Given the description of an element on the screen output the (x, y) to click on. 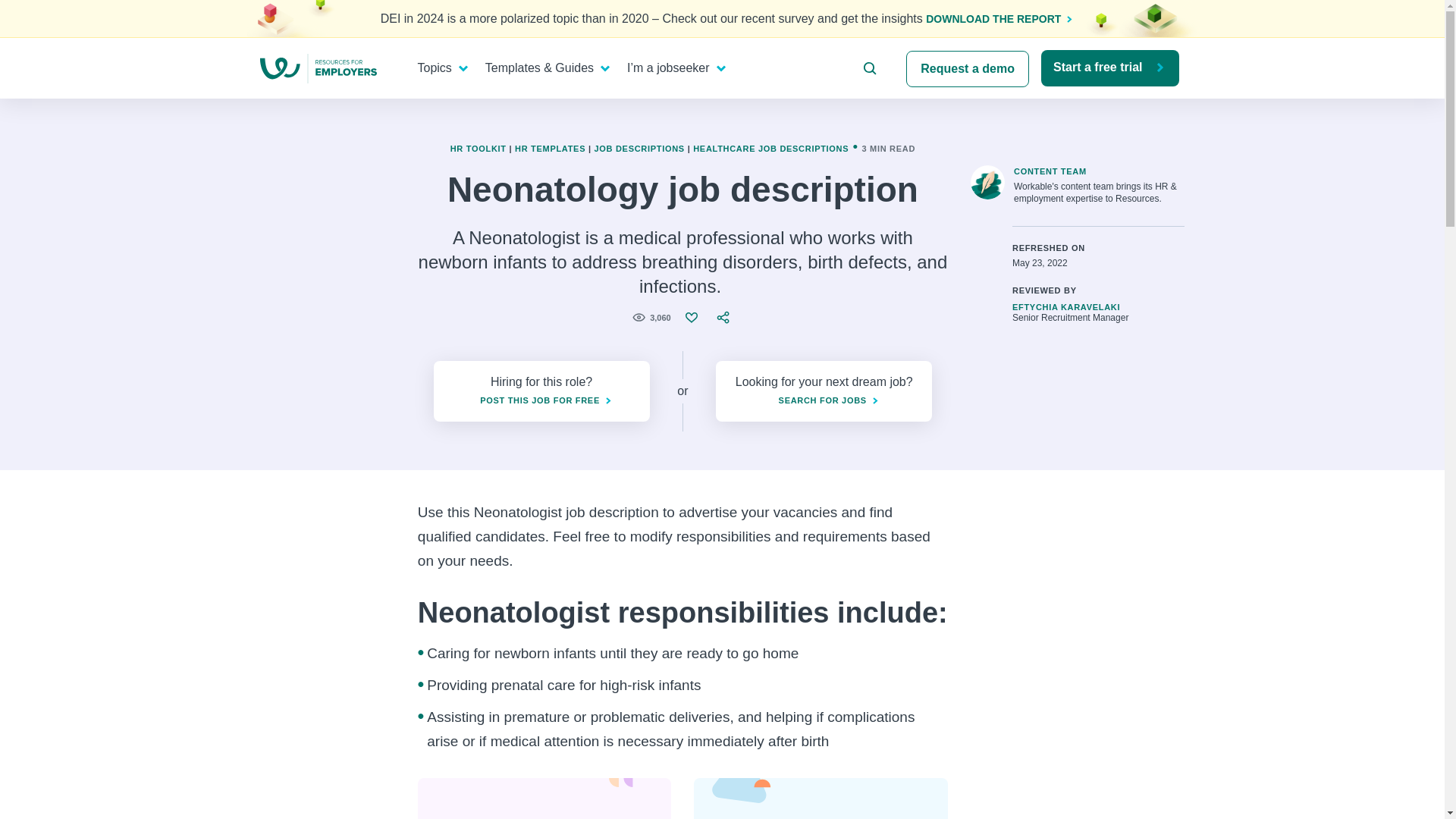
Topics (437, 68)
Like (692, 317)
DOWNLOAD THE REPORT (995, 19)
